Given the description of an element on the screen output the (x, y) to click on. 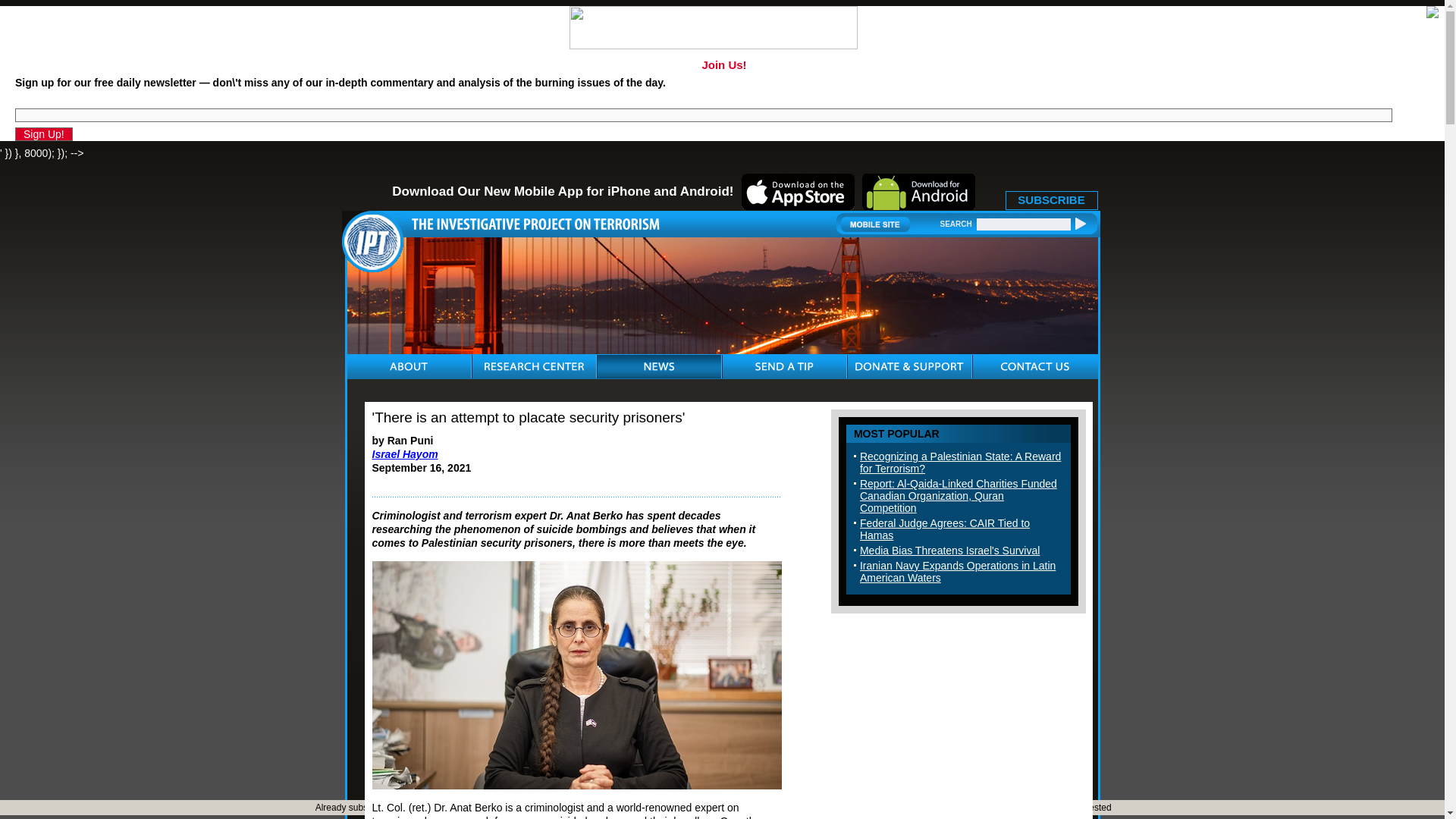
Media Bias Threatens Israel's Survival (949, 550)
Sign Up! (43, 133)
NEWS (658, 366)
Recognizing a Palestinian State: A Reward for Terrorism? (960, 462)
RESEARCH CENTER (533, 366)
Sign Up! (43, 133)
ABOUT (409, 366)
SUBSCRIBE (1051, 199)
Federal Judge Agrees: CAIR Tied to Hamas (944, 528)
